Given the description of an element on the screen output the (x, y) to click on. 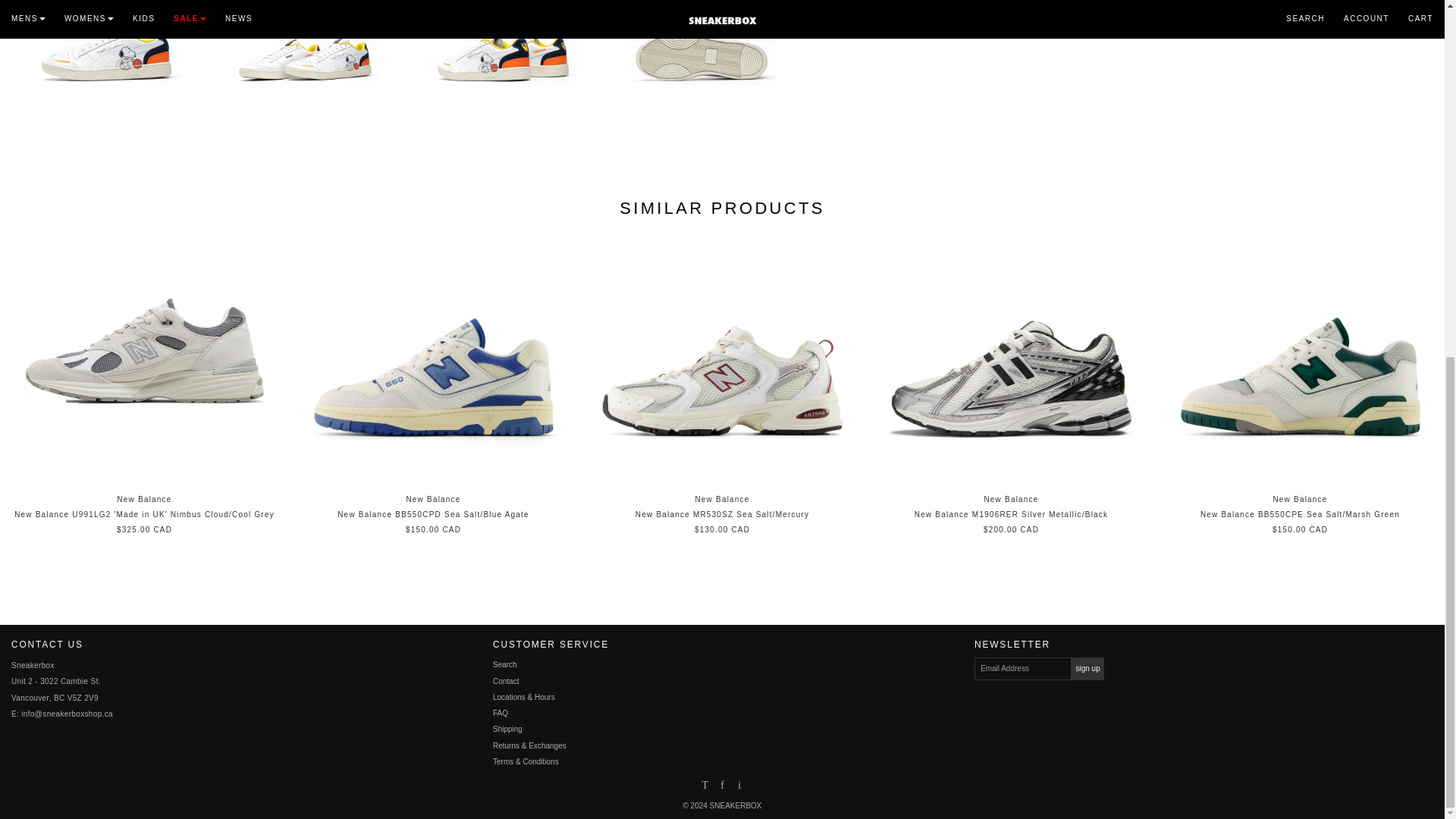
SNEAKERBOX on Instagram (739, 786)
SNEAKERBOX on Twitter (704, 786)
SNEAKERBOX on Facebook (721, 786)
